Given the description of an element on the screen output the (x, y) to click on. 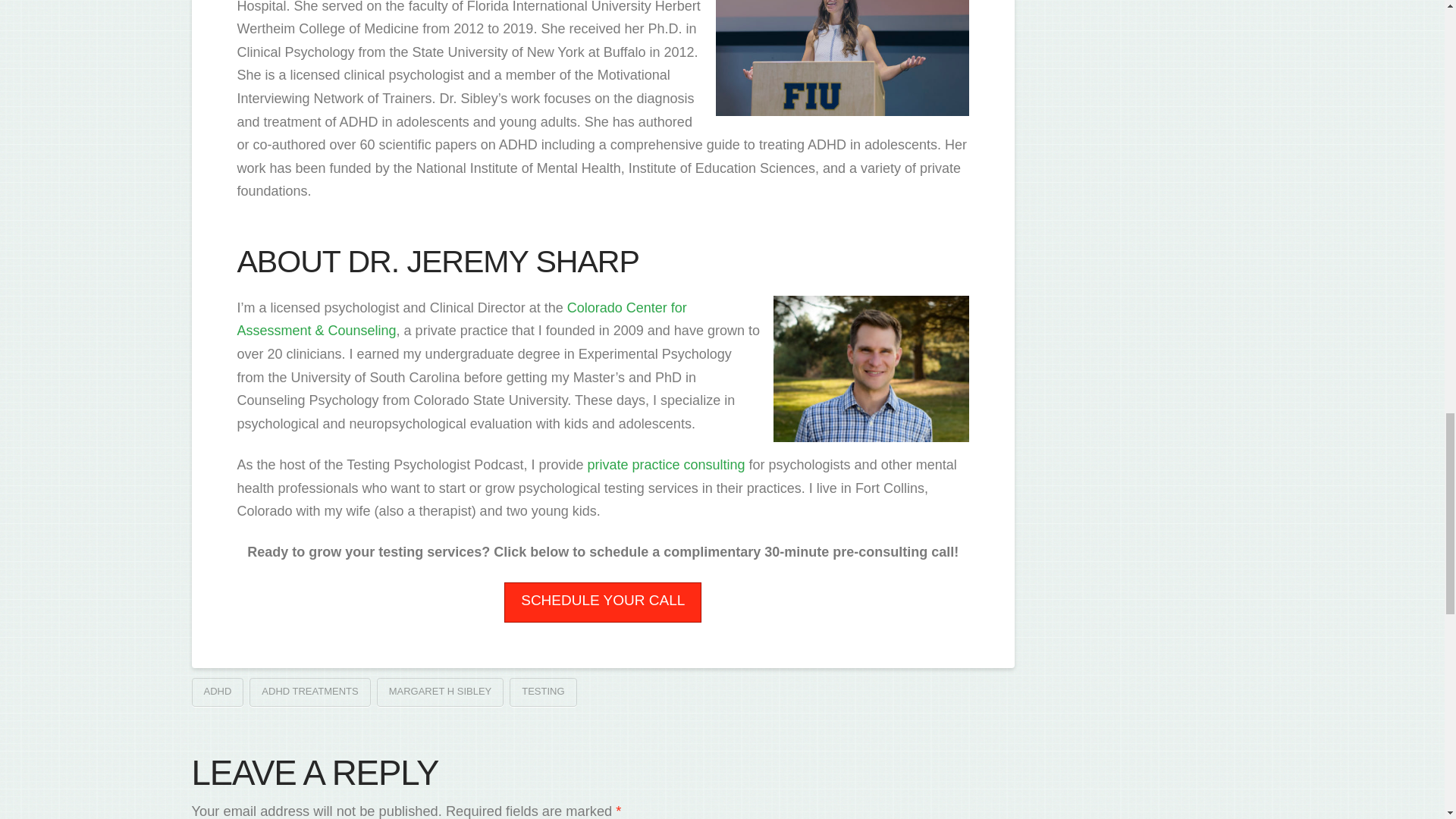
ADHD (216, 692)
private practice consulting (665, 464)
TESTING (542, 692)
ADHD TREATMENTS (308, 692)
MARGARET H SIBLEY (440, 692)
SCHEDULE YOUR CALL (602, 602)
